Given the description of an element on the screen output the (x, y) to click on. 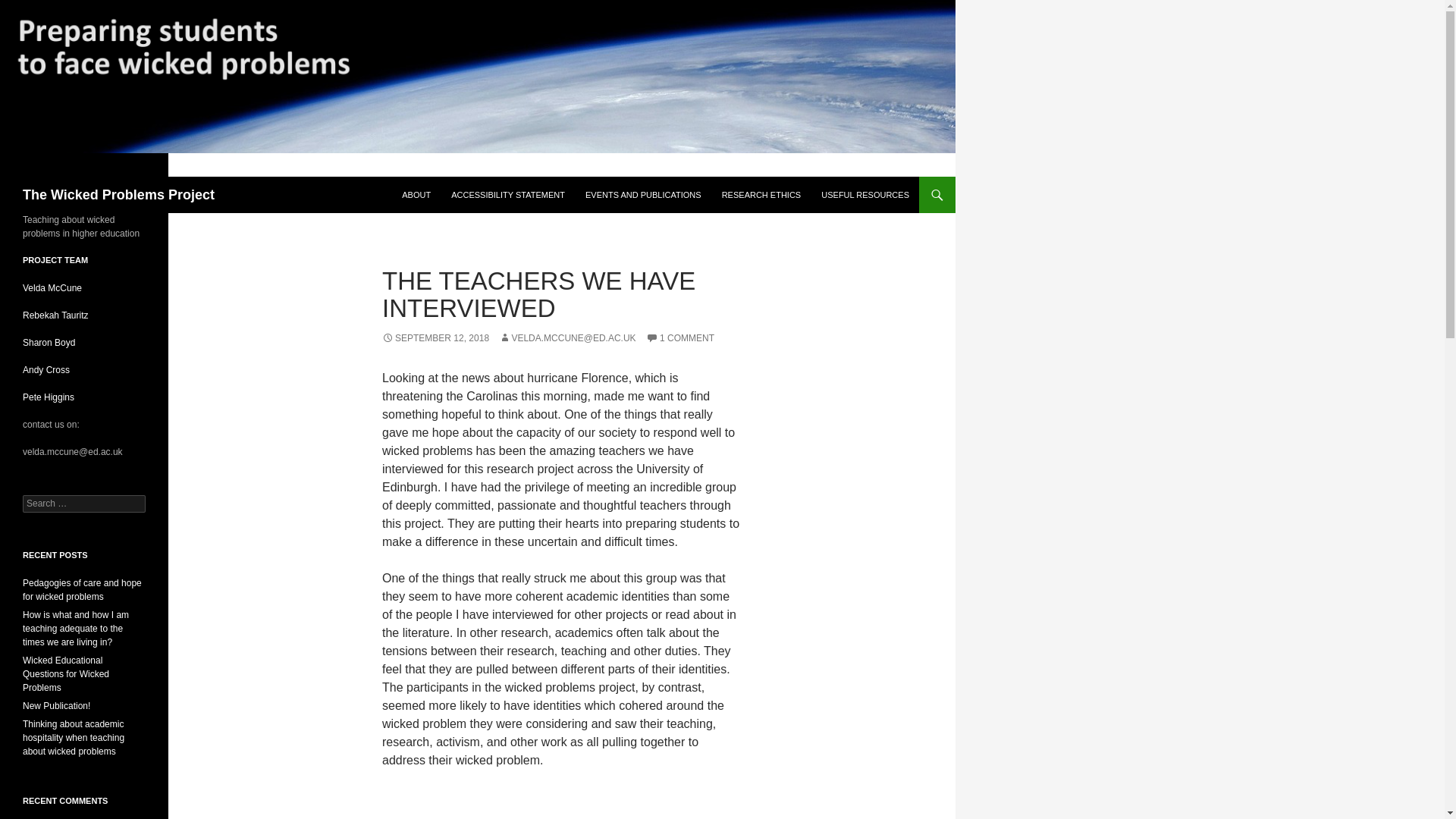
New Publication! (56, 706)
Pete Higgins (48, 397)
The Wicked Problems Project (118, 194)
1 COMMENT (680, 337)
ACCESSIBILITY STATEMENT (507, 194)
Pedagogies of care and hope for wicked problems (82, 589)
ABOUT (416, 194)
Wicked Educational Questions for Wicked Problems (66, 673)
Velda McCune  (53, 287)
